Given the description of an element on the screen output the (x, y) to click on. 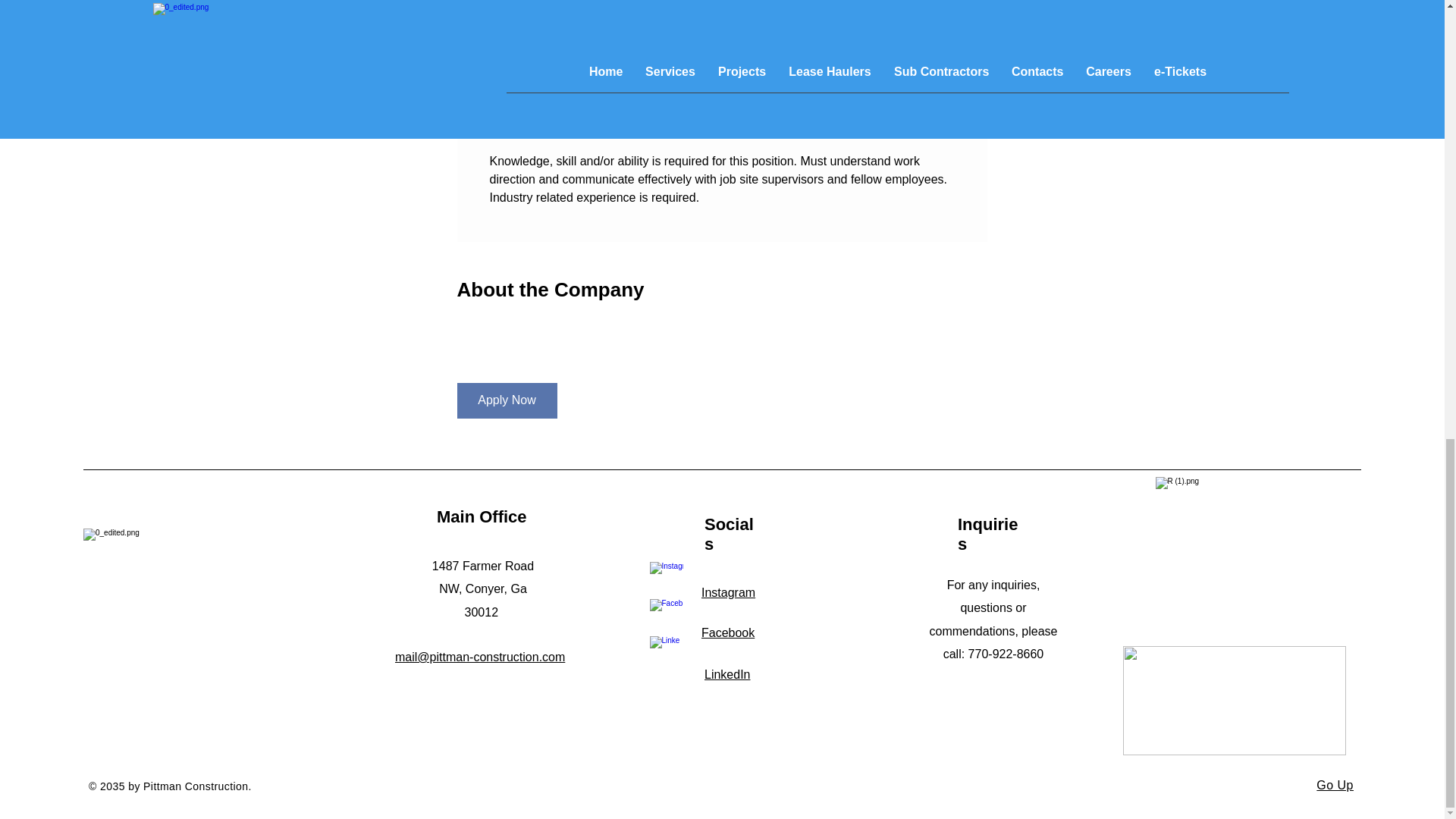
Apply Now (506, 400)
Facebook (727, 632)
Instagram (728, 592)
LinkedIn (727, 674)
Go Up (1335, 784)
